Given the description of an element on the screen output the (x, y) to click on. 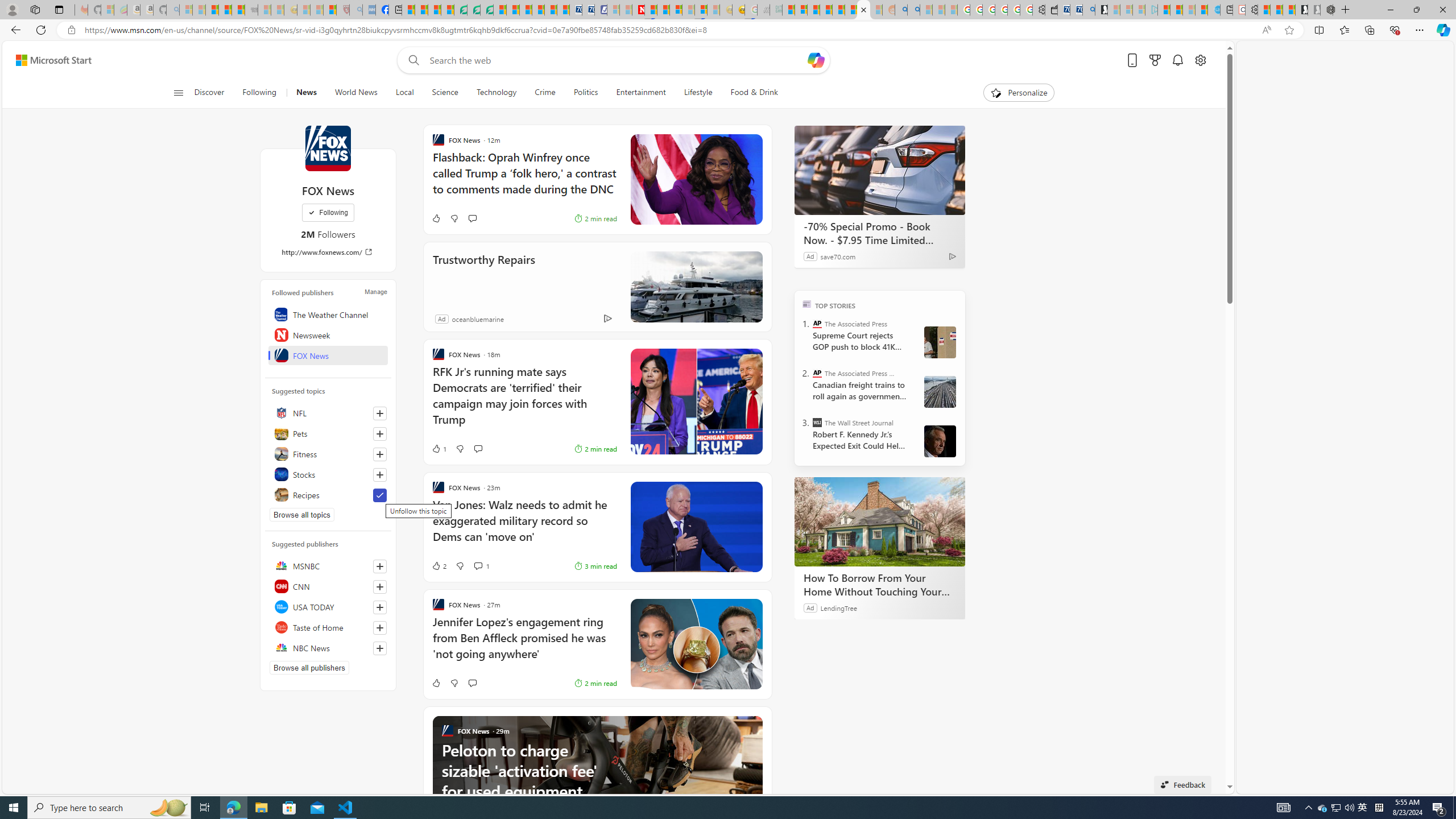
Cheap Hotels - Save70.com (587, 9)
Local - MSN (329, 9)
LendingTree - Compare Lenders (460, 9)
The Associated Press - Business News (816, 372)
